Given the description of an element on the screen output the (x, y) to click on. 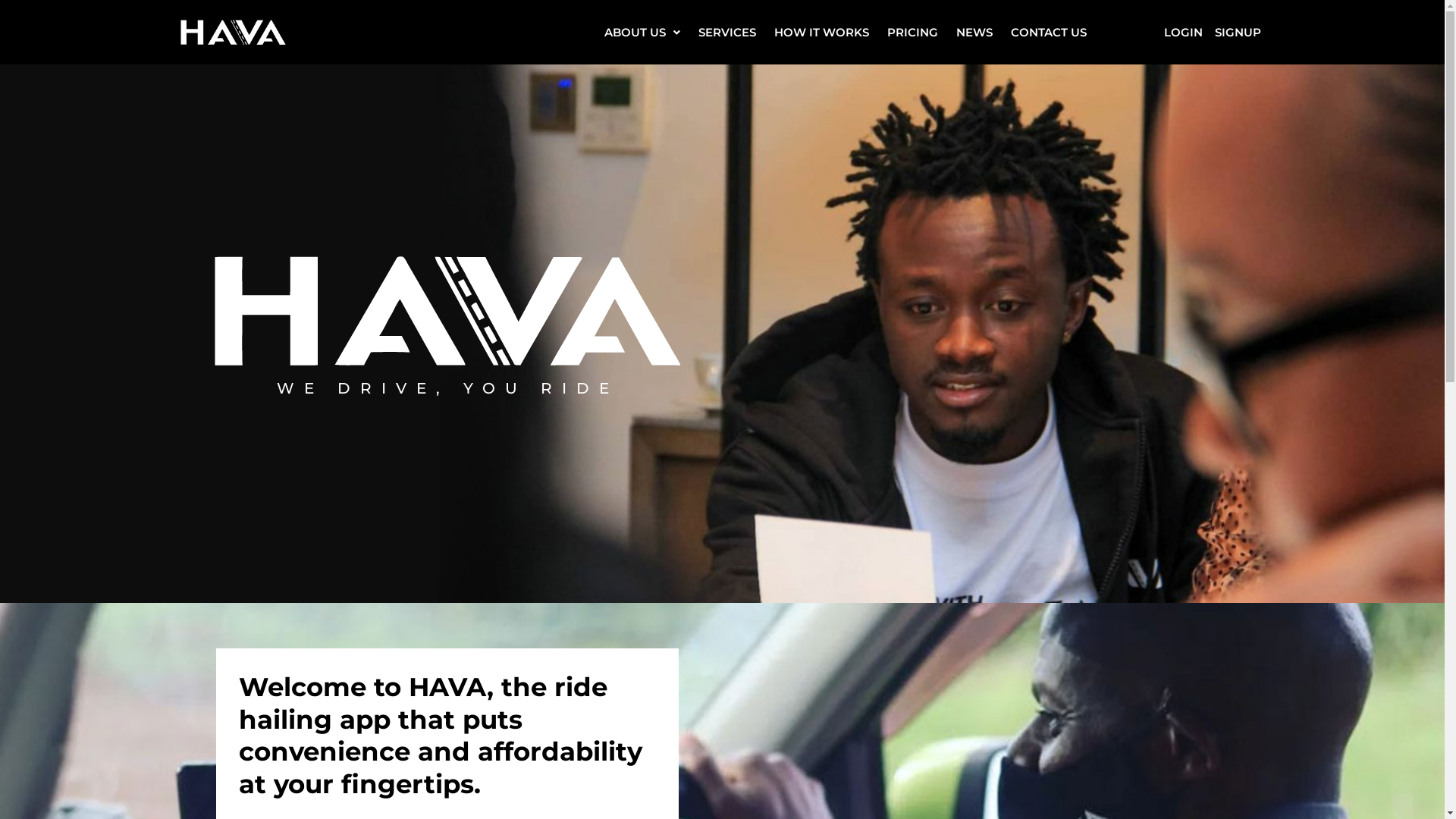
HOW IT WORKS Element type: text (821, 32)
NEWS Element type: text (974, 32)
SIGNUP Element type: text (1237, 32)
PRICING Element type: text (912, 32)
CONTACT US Element type: text (1048, 32)
LOGIN Element type: text (1183, 32)
ABOUT US Element type: text (642, 32)
SERVICES Element type: text (727, 32)
